Given the description of an element on the screen output the (x, y) to click on. 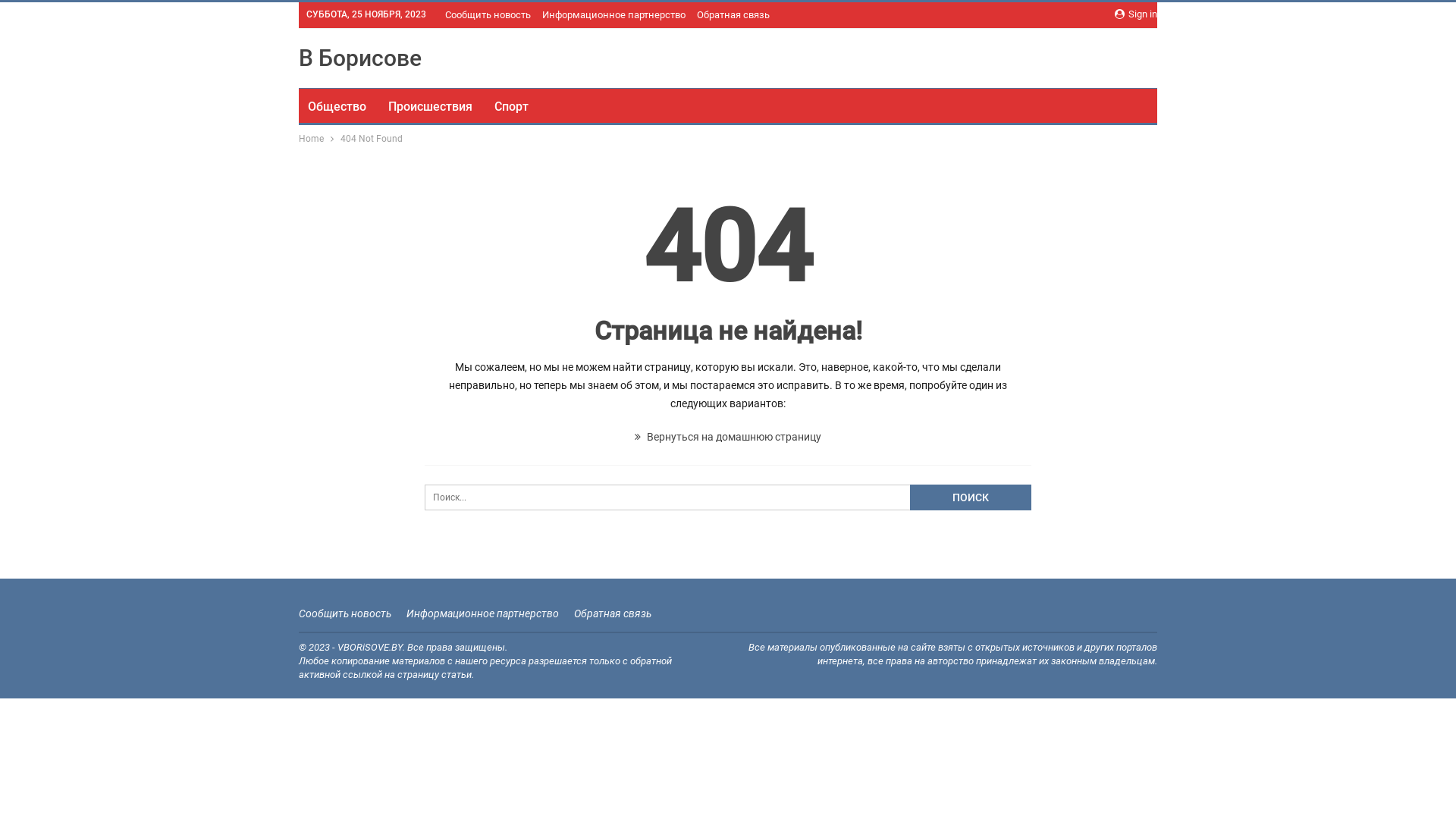
Home Element type: text (310, 138)
Sign in Element type: text (1135, 14)
